Given the description of an element on the screen output the (x, y) to click on. 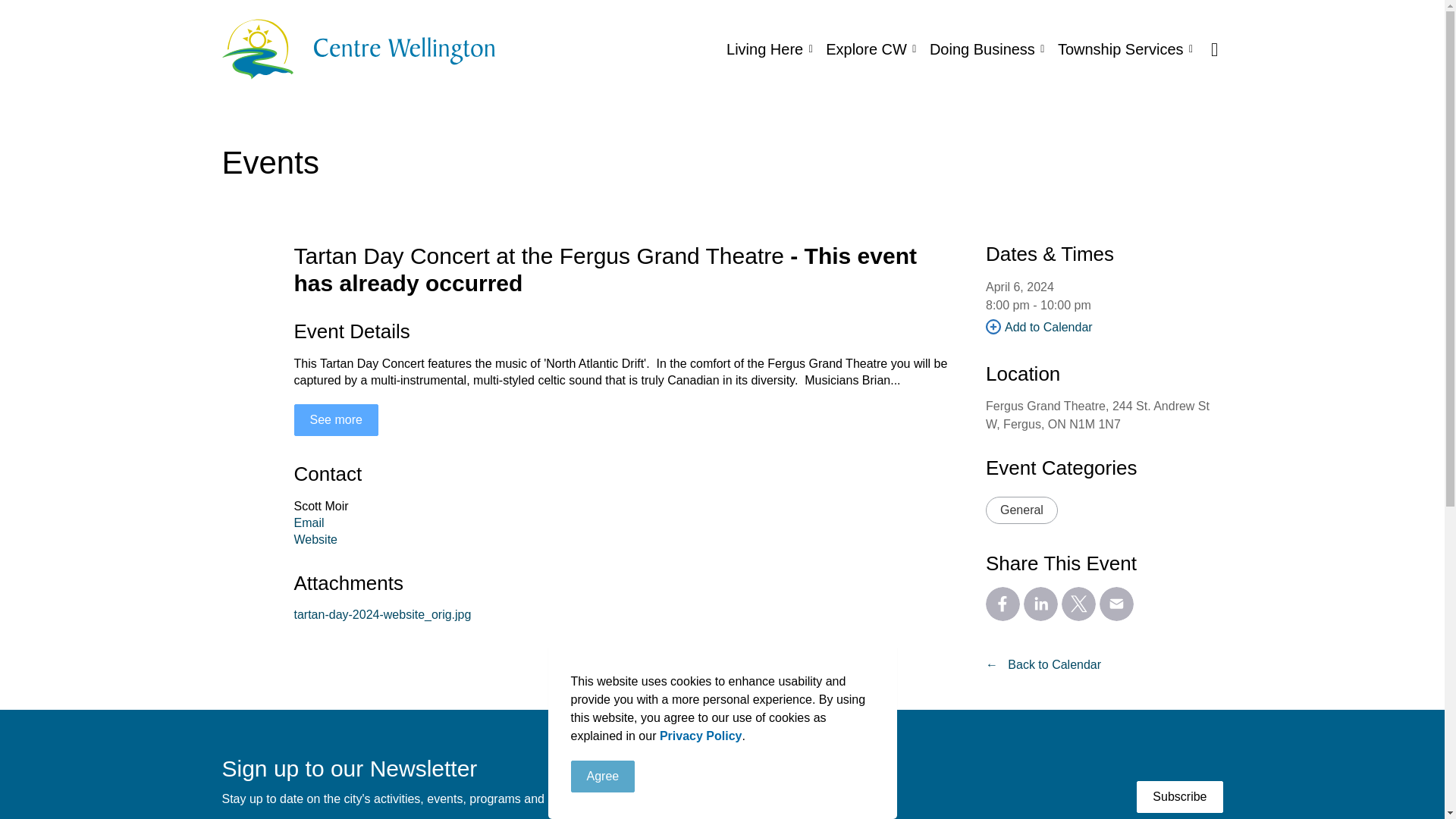
Township of Centre Wellington (358, 48)
Privacy Policy (700, 735)
Living Here (768, 49)
